Given the description of an element on the screen output the (x, y) to click on. 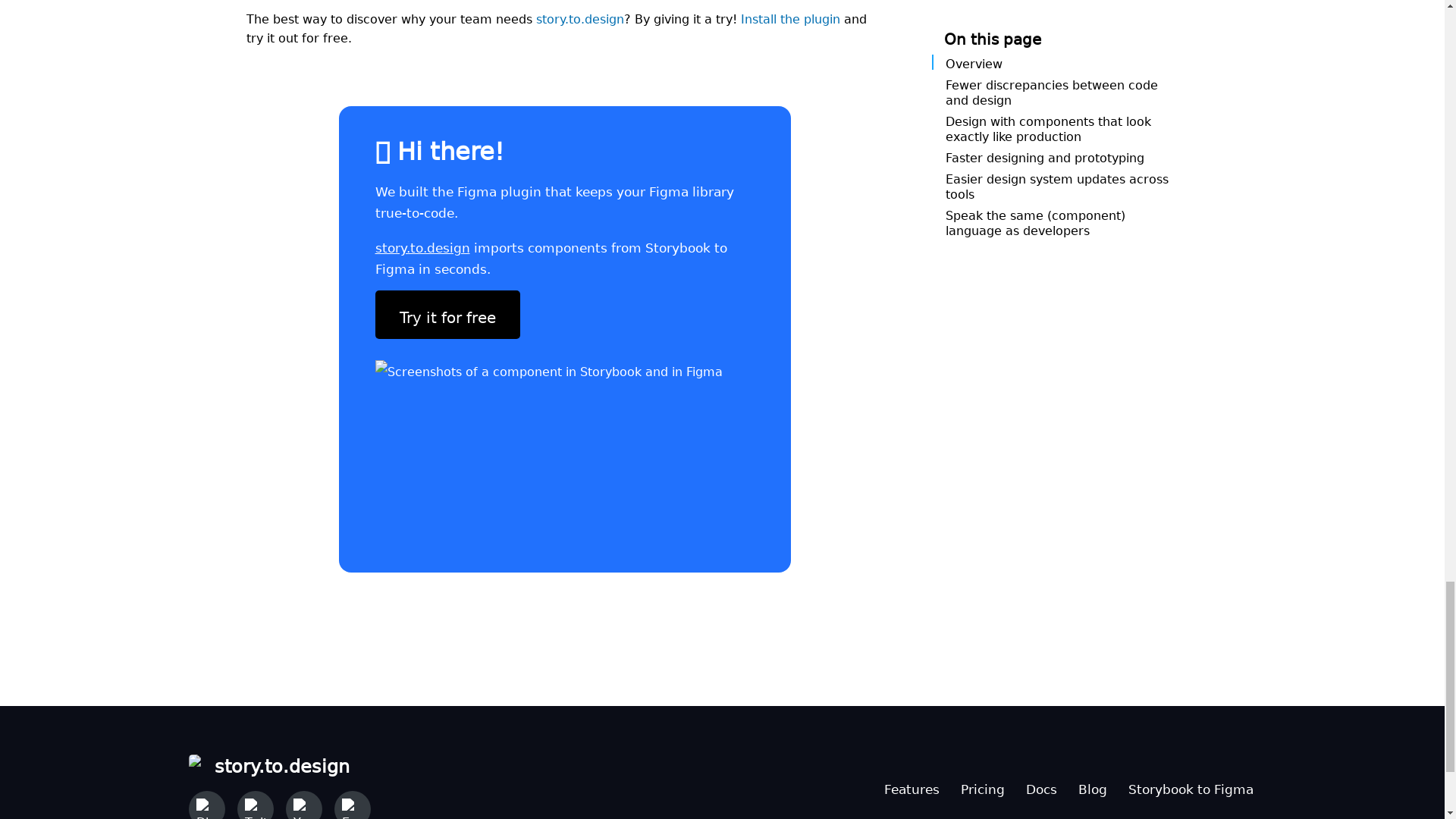
Try it for free (446, 314)
Features (911, 785)
story.to.design (421, 244)
Storybook to Figma (1190, 785)
Blog (1092, 785)
Install the plugin (789, 16)
story.to.design (579, 16)
story.to.design (278, 763)
Docs (1041, 785)
Pricing (981, 785)
